Given the description of an element on the screen output the (x, y) to click on. 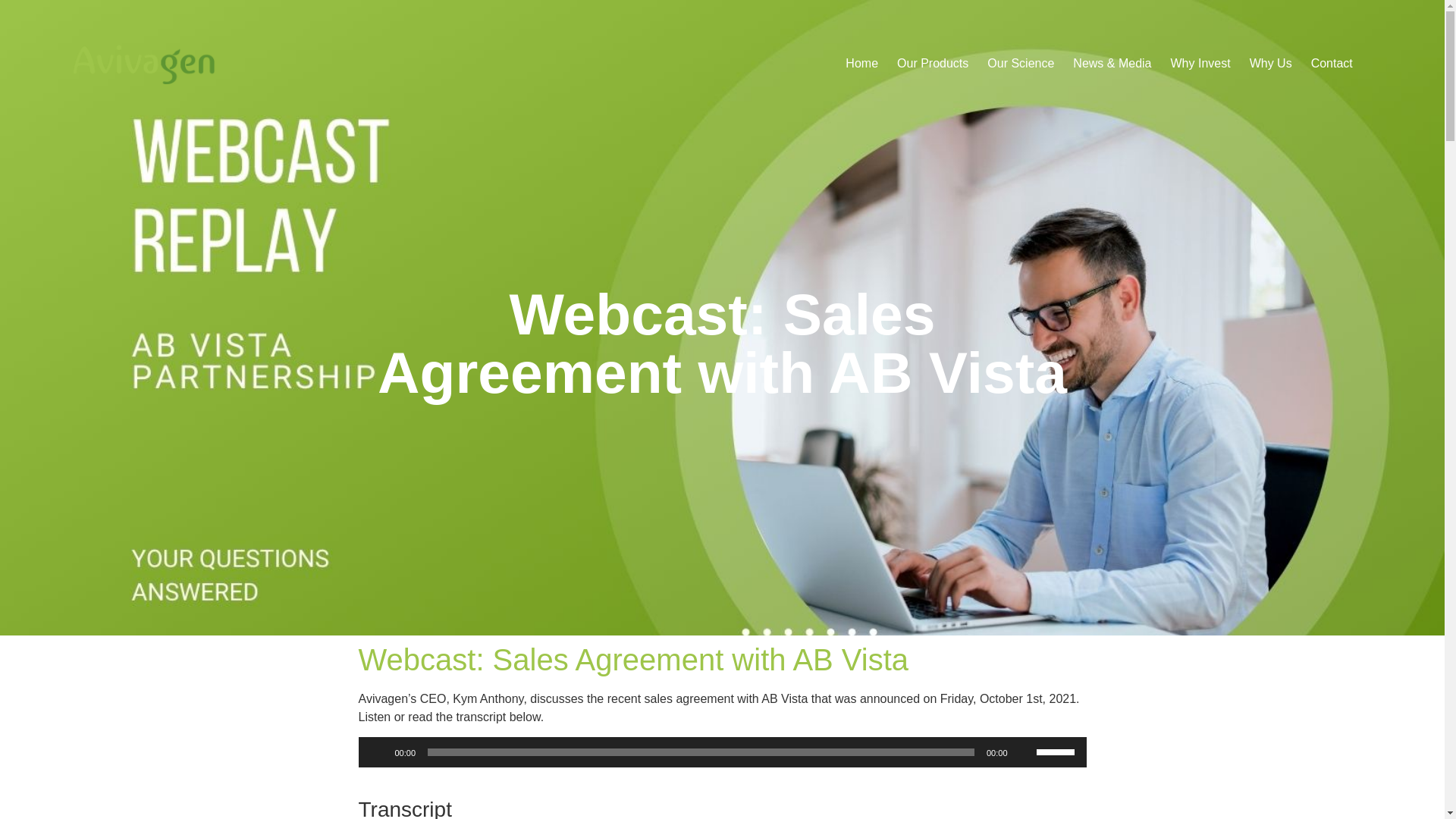
Home (861, 63)
Why Us (1270, 63)
Play (377, 752)
Mute (1023, 752)
Our Products (932, 63)
Our Science (1020, 63)
Contact (1331, 63)
Why Invest (1200, 63)
